Given the description of an element on the screen output the (x, y) to click on. 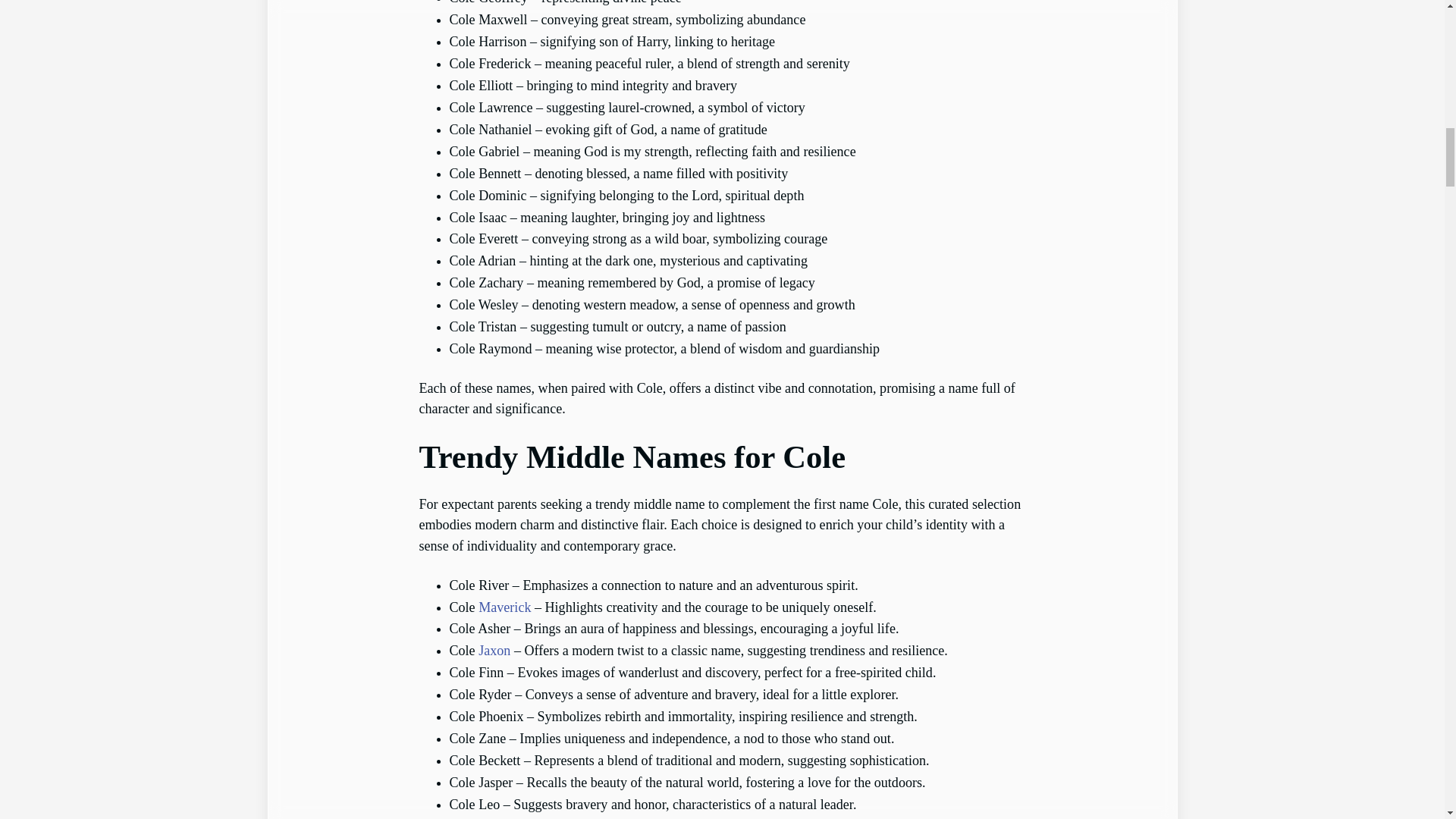
Maverick (505, 607)
Jaxon (495, 650)
Maverick (505, 607)
Jaxon (495, 650)
